Given the description of an element on the screen output the (x, y) to click on. 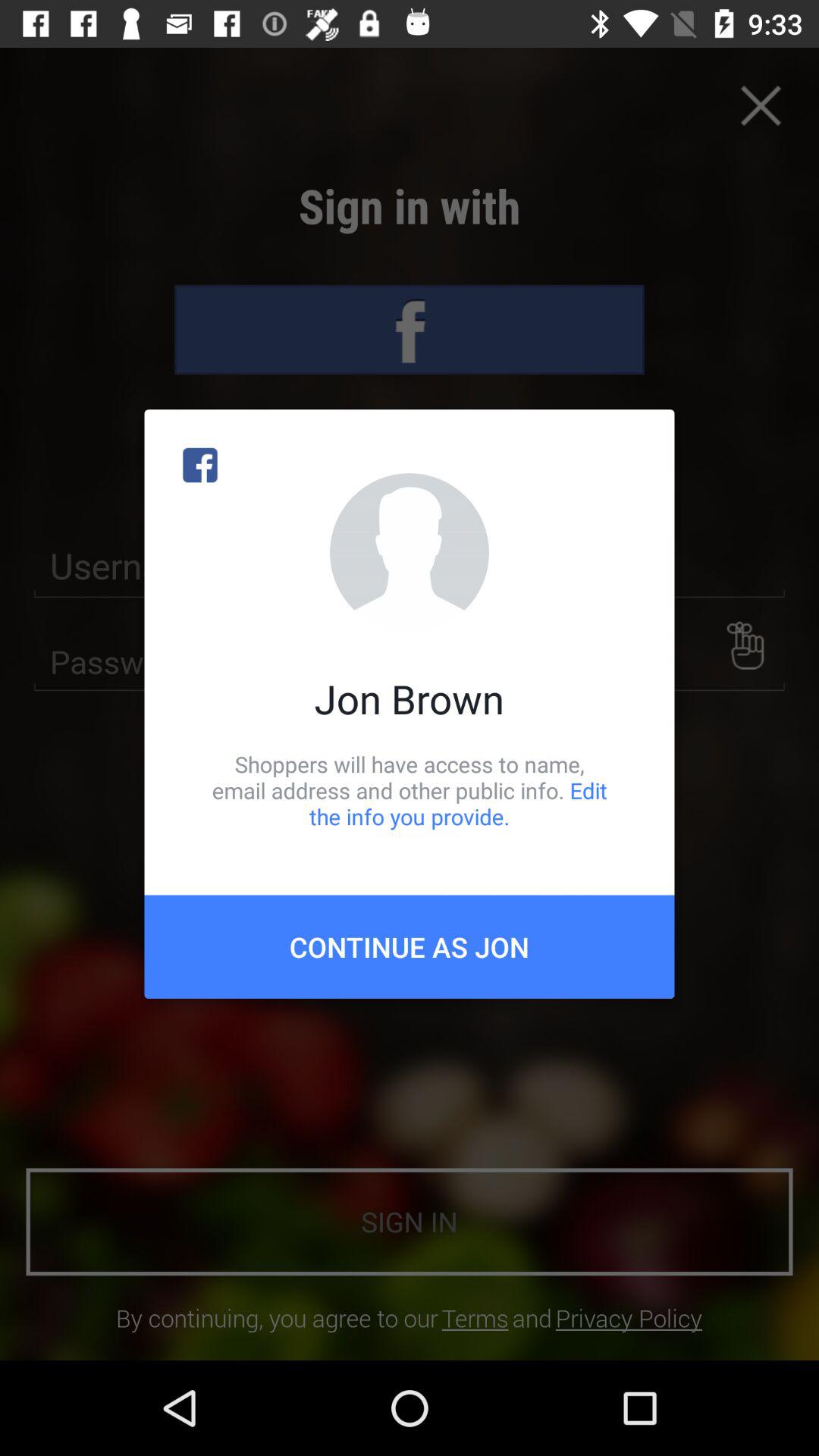
turn on the shoppers will have (409, 790)
